Given the description of an element on the screen output the (x, y) to click on. 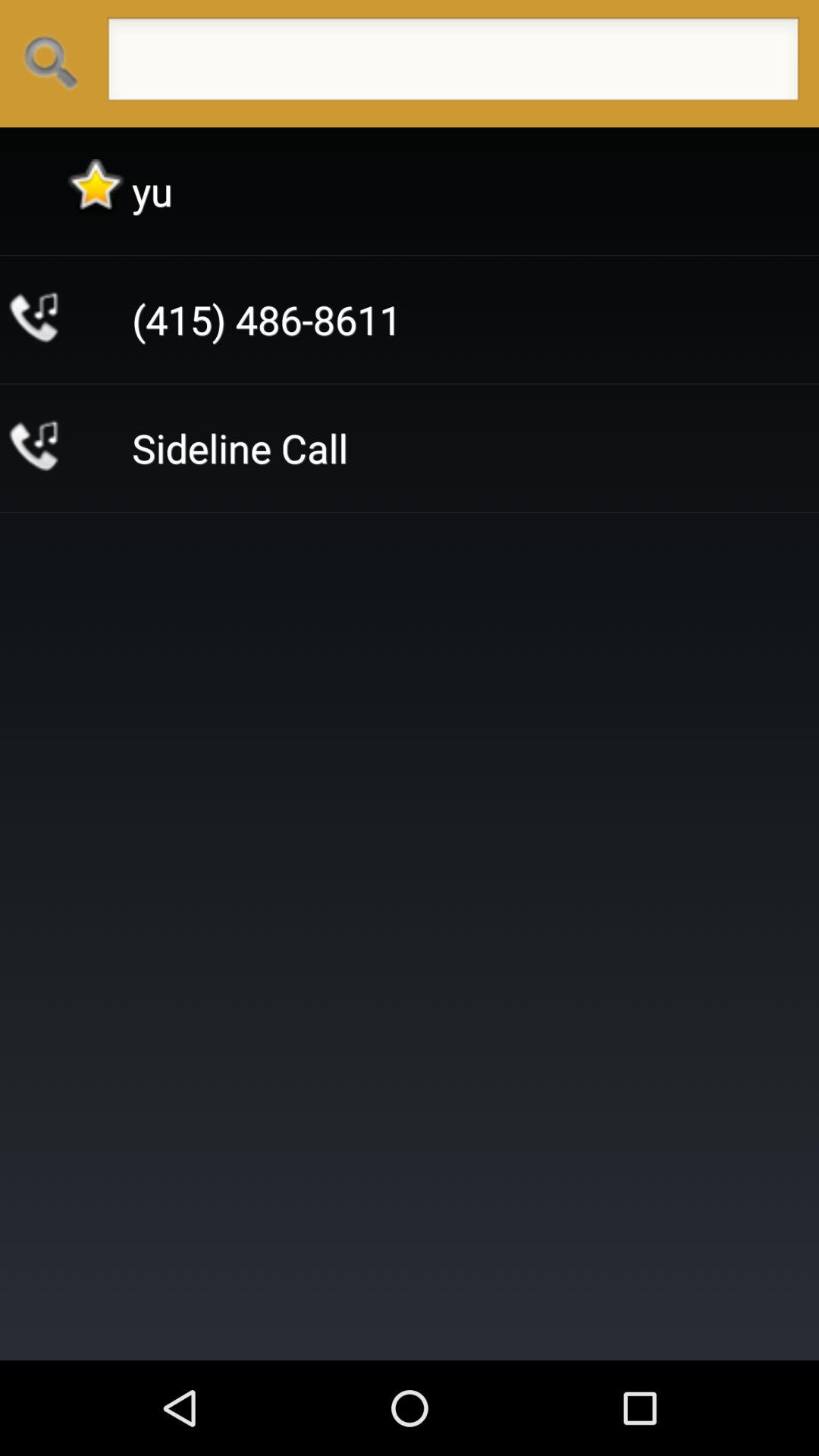
press icon above the sideline call app (266, 319)
